Given the description of an element on the screen output the (x, y) to click on. 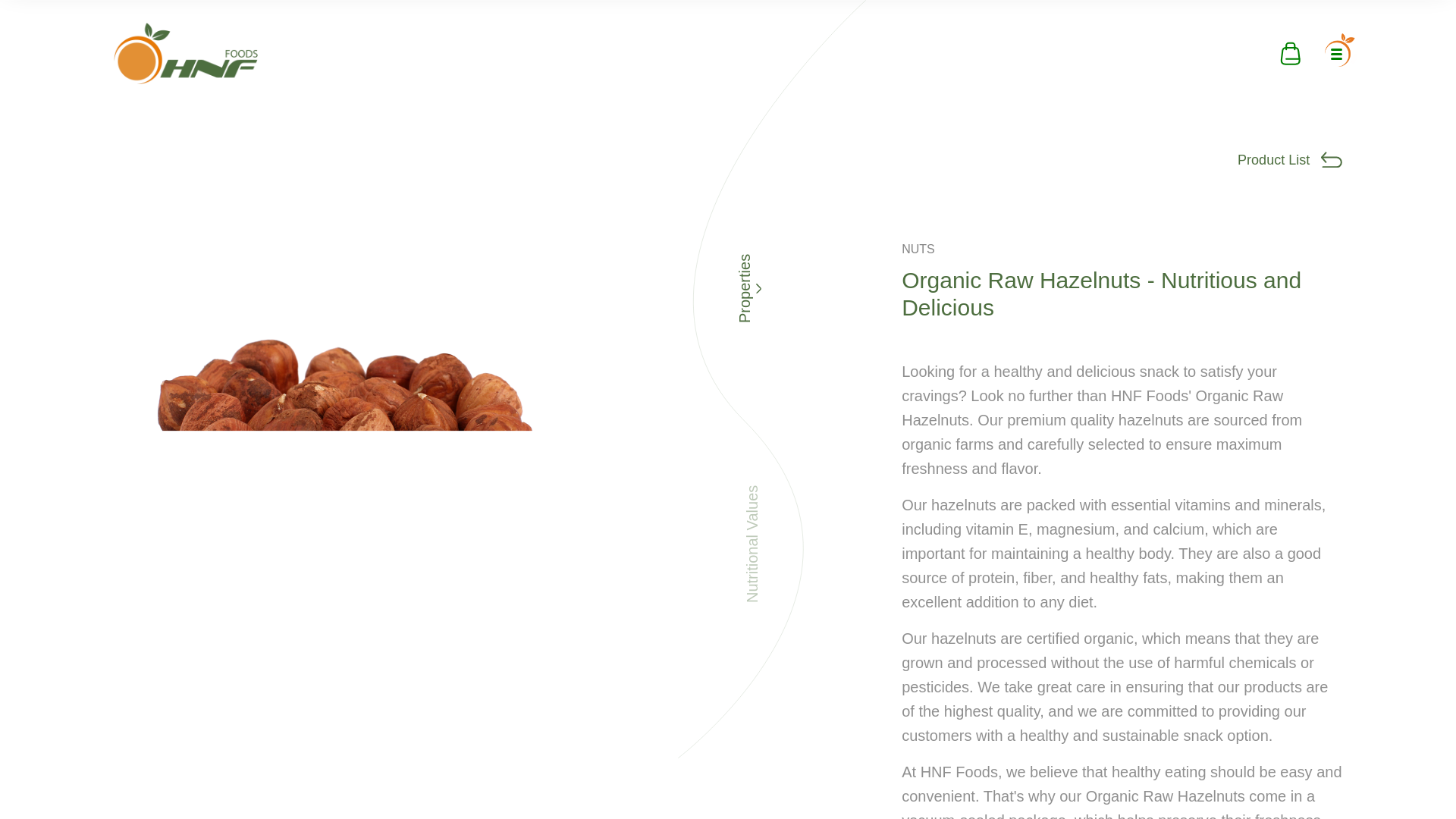
Product List (1289, 159)
